Given the description of an element on the screen output the (x, y) to click on. 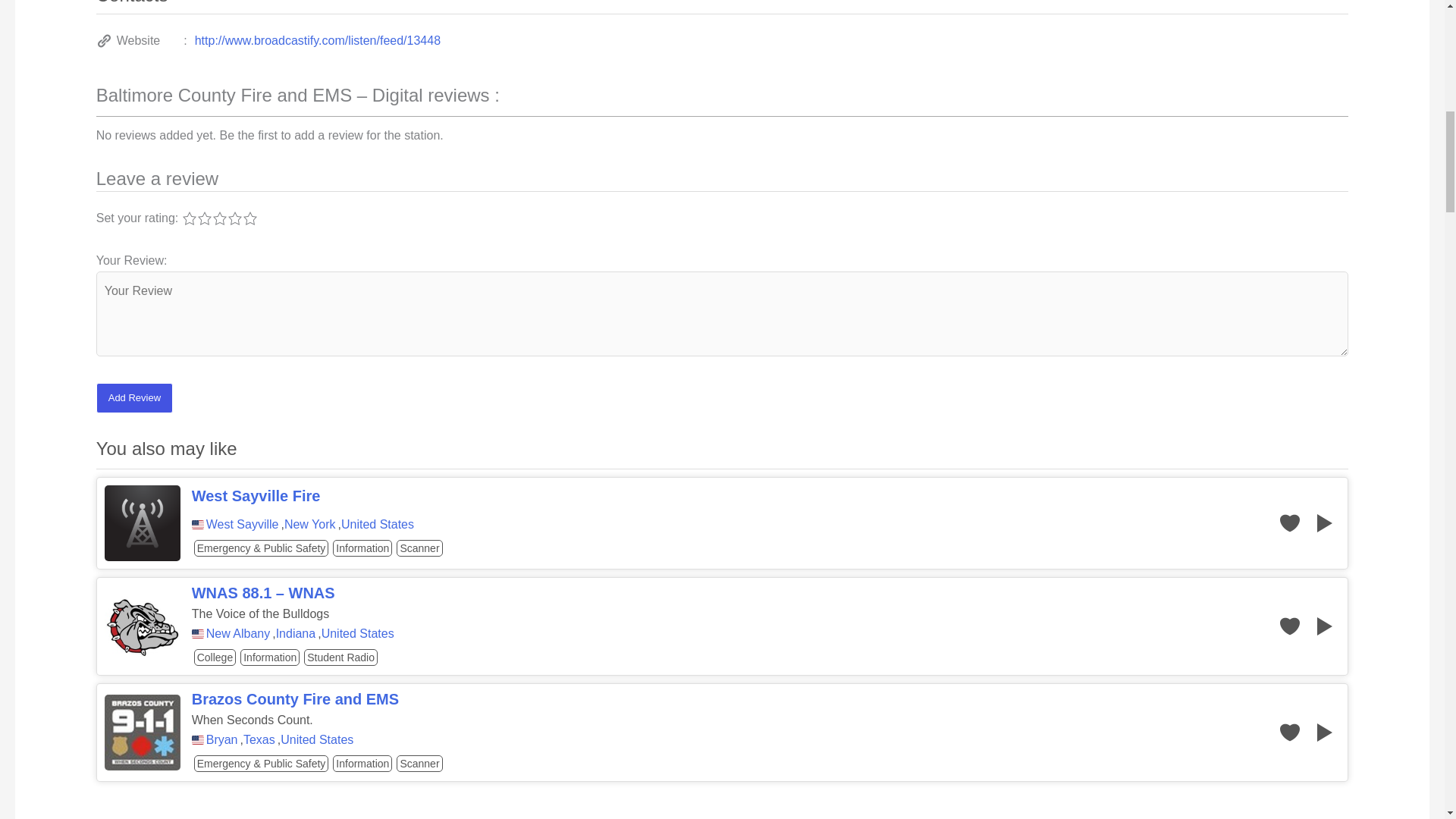
West Sayville Fire (735, 495)
Add Review (134, 398)
New York (309, 524)
West Sayville (242, 524)
